Given the description of an element on the screen output the (x, y) to click on. 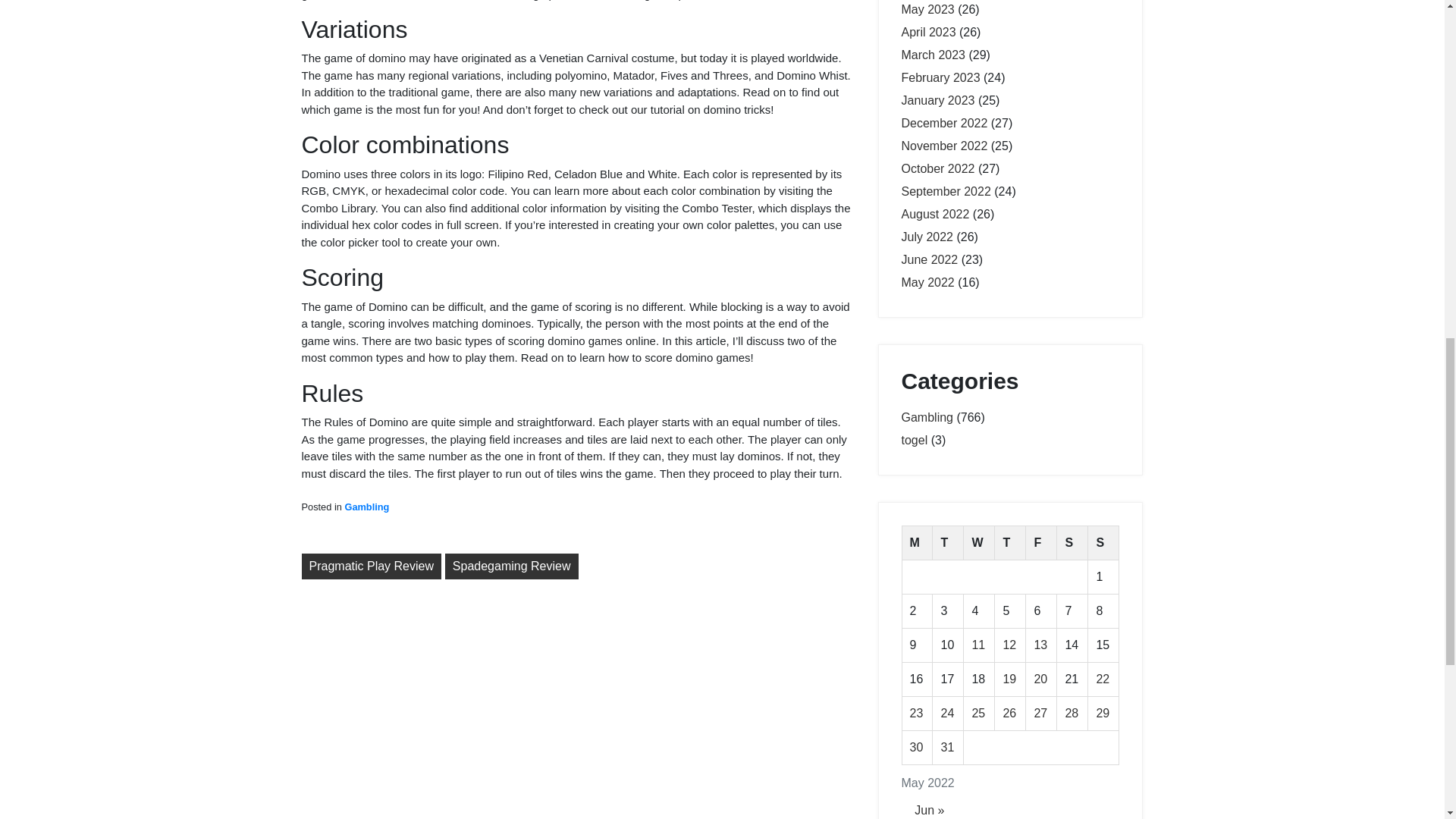
Gambling (926, 417)
April 2023 (928, 31)
Tuesday (948, 543)
August 2022 (935, 214)
Sunday (1103, 543)
September 2022 (945, 191)
Monday (917, 543)
Saturday (1072, 543)
May 2022 (927, 282)
December 2022 (944, 123)
February 2023 (940, 77)
November 2022 (944, 145)
Spadegaming Review (511, 566)
togel (914, 440)
March 2023 (933, 54)
